Given the description of an element on the screen output the (x, y) to click on. 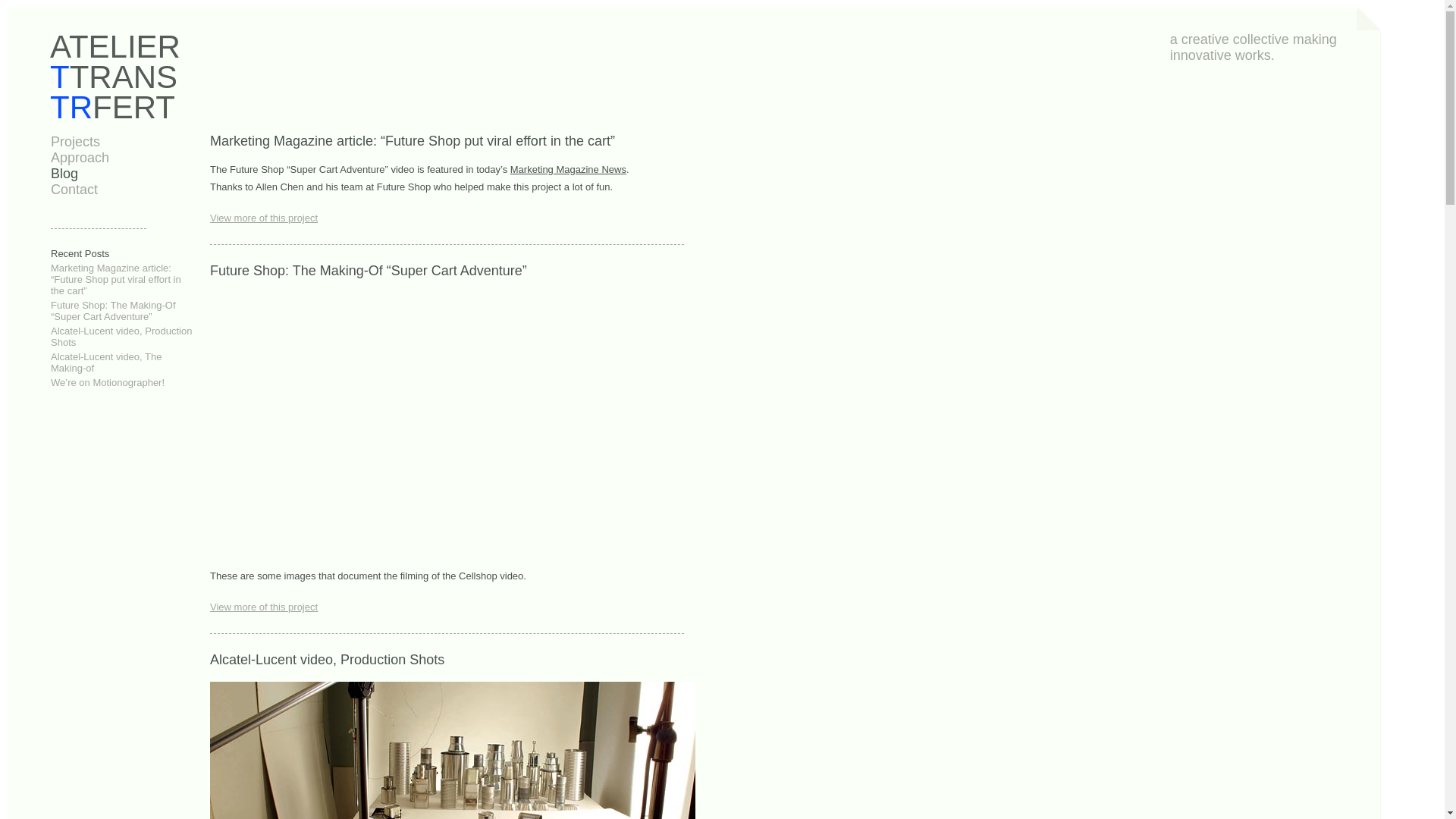
View more of this project Element type: text (452, 607)
Contact Element type: text (73, 189)
ATELIER
TTRANS
TRFERT Element type: text (115, 76)
Alcatel-Lucent video, The Making-of Element type: text (105, 362)
Projects Element type: text (75, 141)
Approach Element type: text (79, 157)
Marketing Magazine News Element type: text (568, 169)
Alcatel-Lucent video, Production Shots Element type: text (452, 659)
View more of this project Element type: text (452, 218)
Blog Element type: text (64, 173)
Alcatel-Lucent video, Production Shots Element type: text (120, 336)
